Given the description of an element on the screen output the (x, y) to click on. 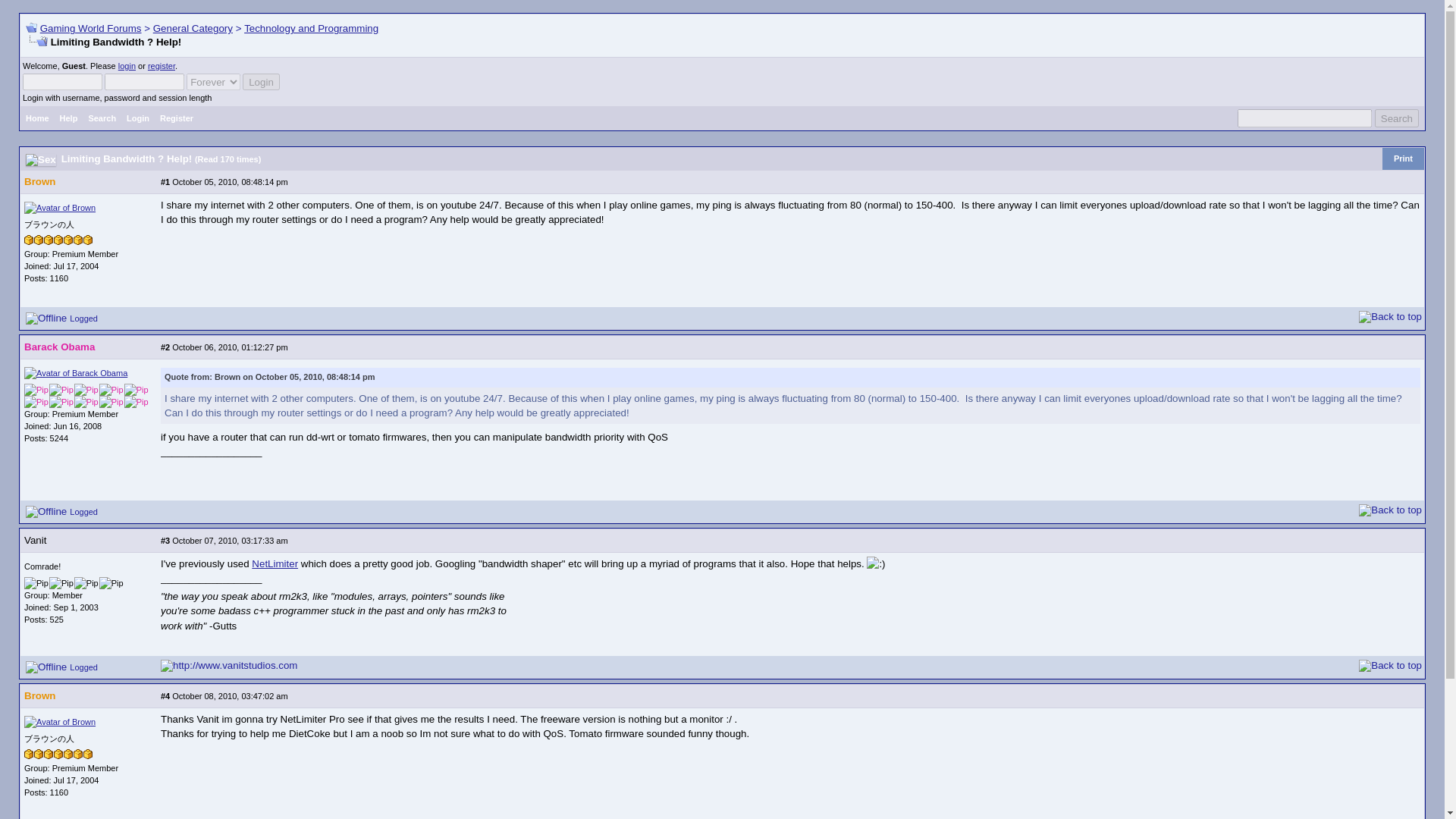
Print (1402, 158)
Login (261, 81)
Search (1396, 117)
Barack Obama (59, 346)
NetLimiter (274, 563)
Smile (875, 563)
Register (176, 118)
Login (261, 81)
Offline (46, 666)
Vanit (35, 540)
